Given the description of an element on the screen output the (x, y) to click on. 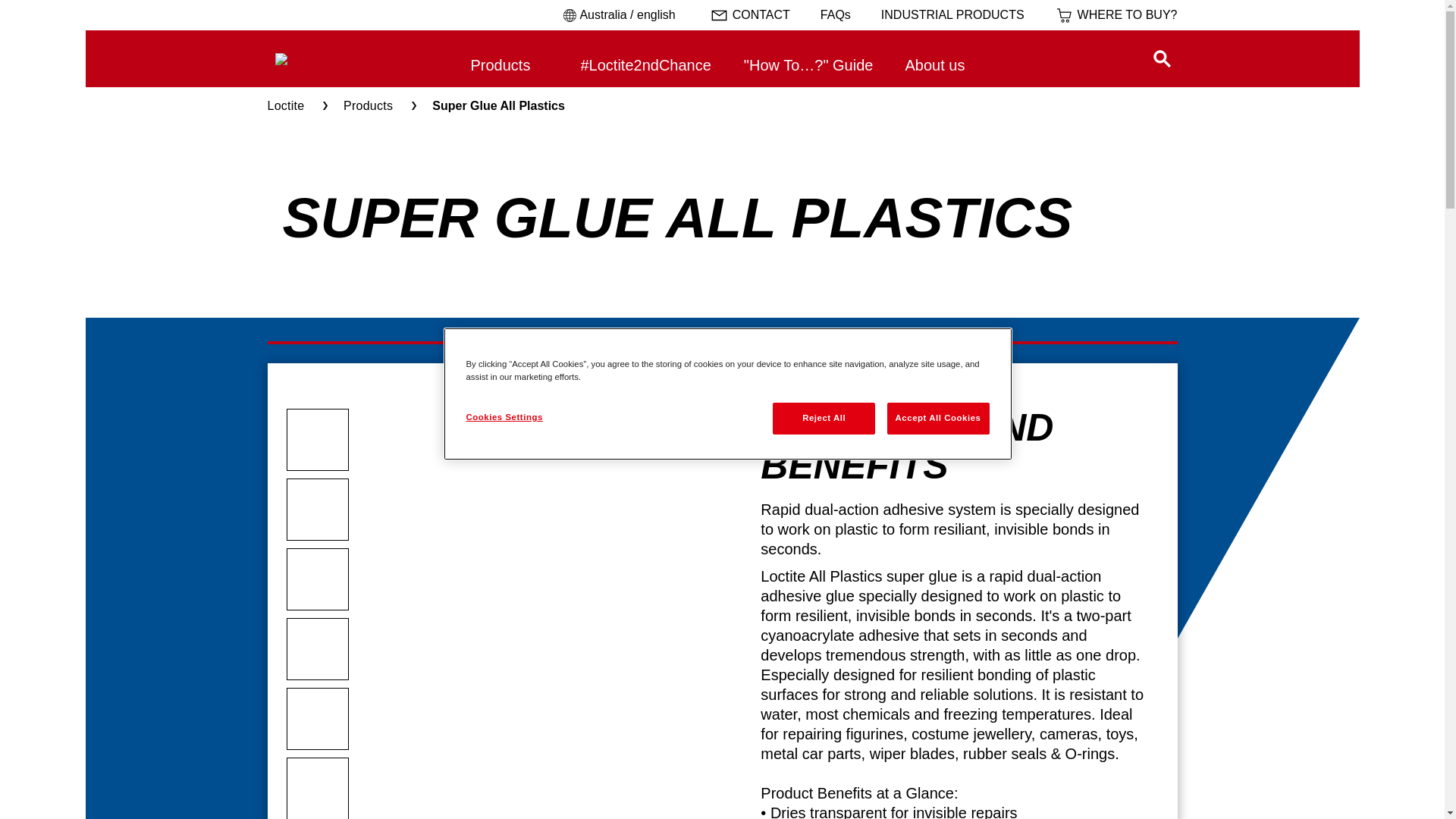
#Loctite2ndChance Element type: text (645, 64)
Loctite Element type: text (286, 105)
INDUSTRIAL PRODUCTS Element type: text (952, 14)
Accept All Cookies Element type: text (938, 418)
Products Element type: text (369, 105)
CONTACT Element type: text (749, 15)
WHERE TO BUY? Element type: text (1115, 15)
About us Element type: text (943, 64)
Australia / english Element type: text (617, 15)
Reject All Element type: text (823, 418)
Cookies Settings Element type: text (516, 417)
FAQs Element type: text (835, 14)
Products Element type: text (509, 64)
